Given the description of an element on the screen output the (x, y) to click on. 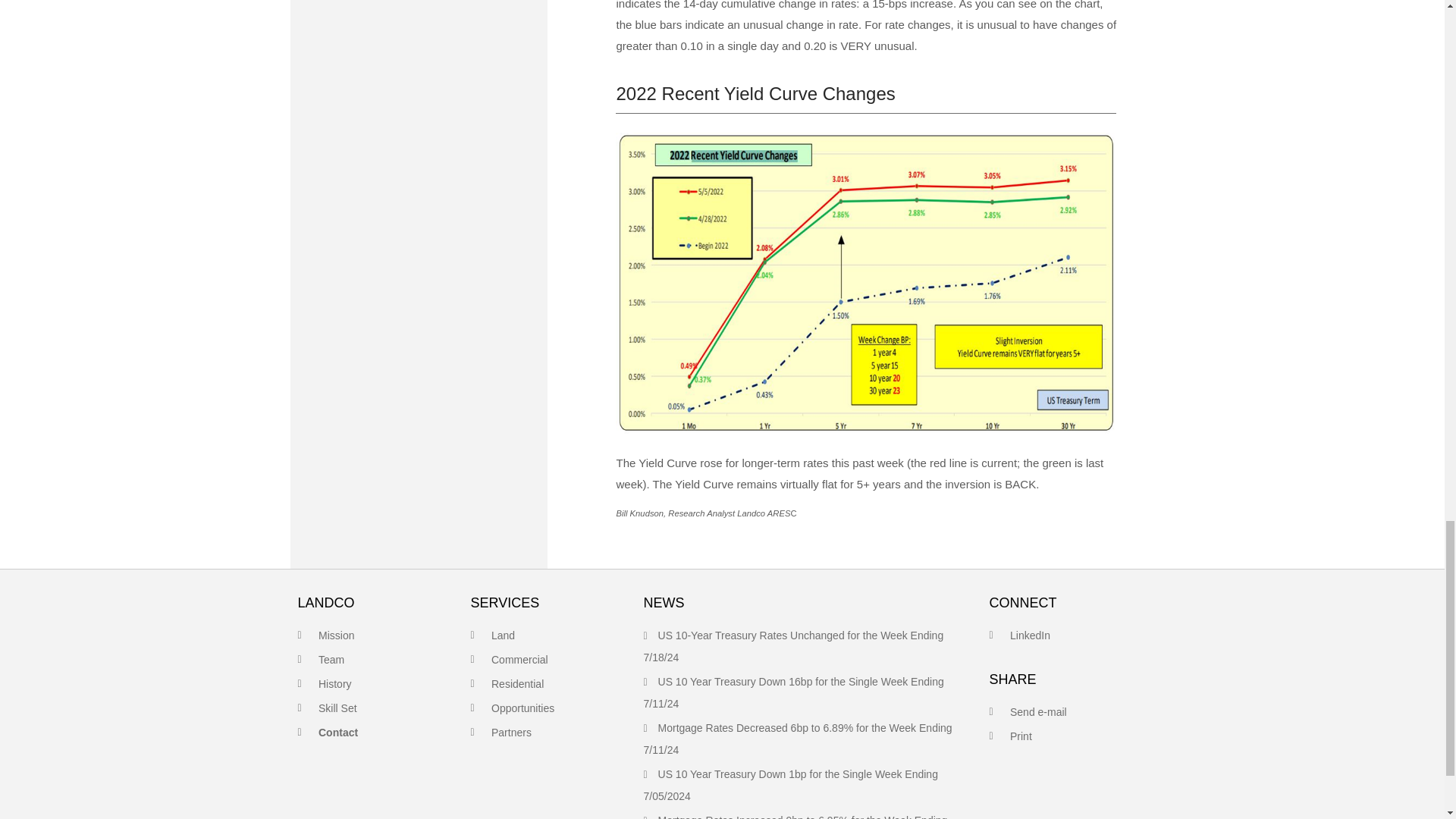
Print (1021, 735)
